Given the description of an element on the screen output the (x, y) to click on. 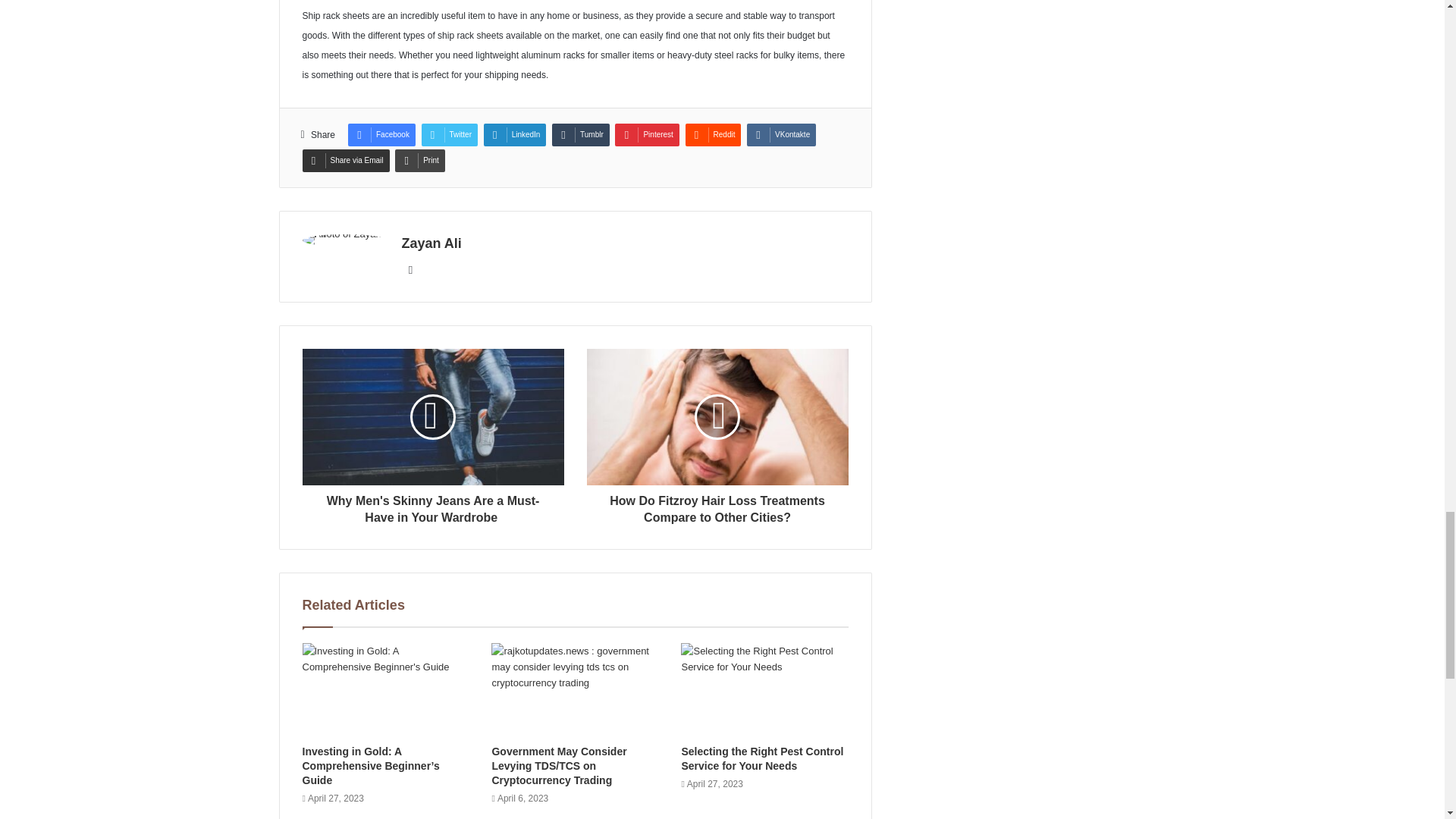
Tumblr (580, 134)
Twitter (449, 134)
Pinterest (646, 134)
LinkedIn (515, 134)
Facebook (380, 134)
